Given the description of an element on the screen output the (x, y) to click on. 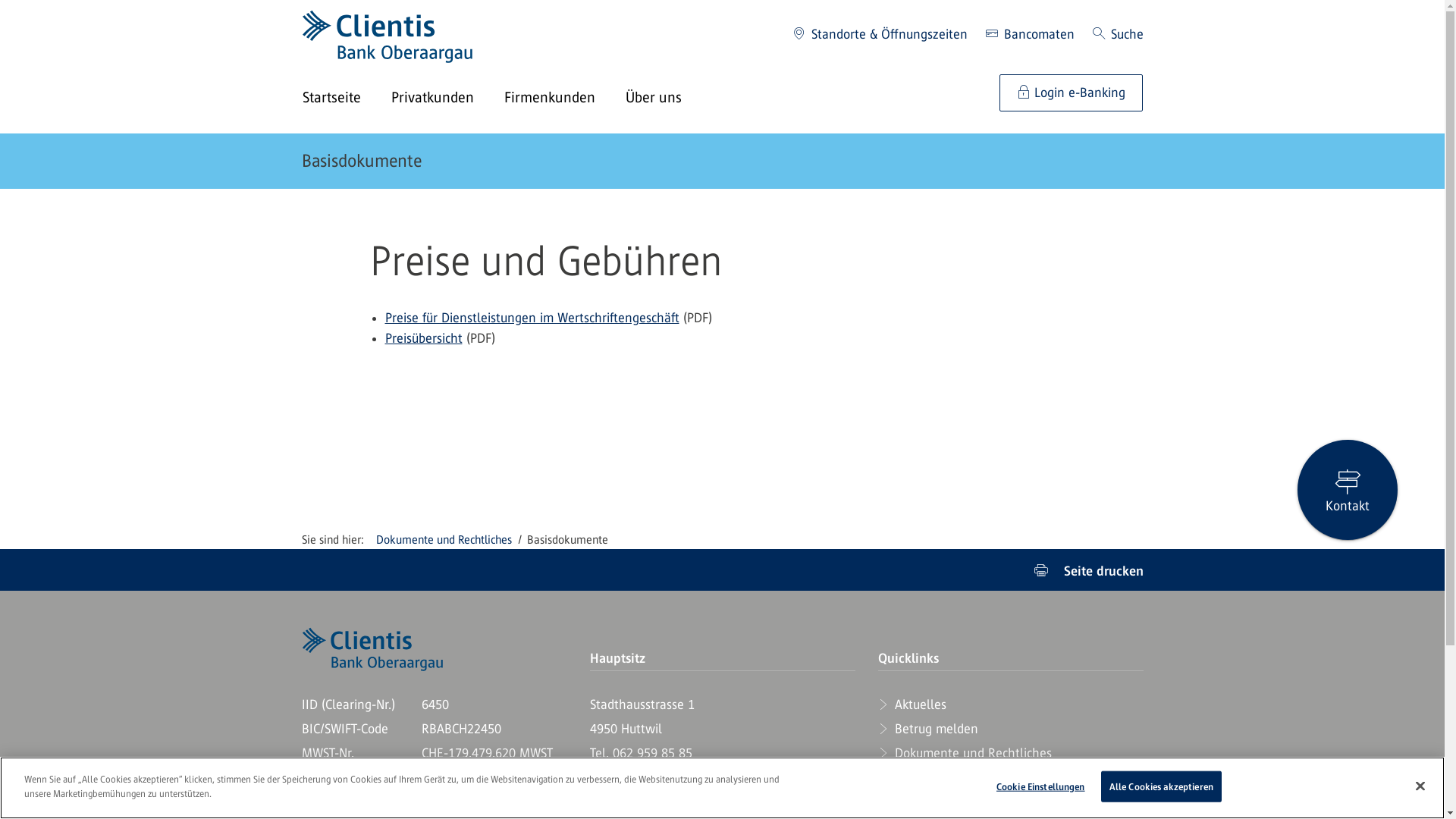
Login e-Banking Element type: text (1070, 92)
Kontakt Element type: text (1347, 489)
Startseite Element type: text (345, 98)
Betrug melden Element type: text (928, 728)
Anmeldung Newsletter Element type: text (951, 801)
Alle Cookies akzeptieren Element type: text (1161, 787)
Seite drucken Element type: text (1088, 569)
Dokumente und Rechtliches Element type: text (964, 752)
Suche Element type: text (1117, 34)
Aktuelles Element type: text (912, 704)
Basisdokumente Element type: text (361, 160)
Privatkunden Element type: text (447, 98)
Dokumente und Rechtliches Element type: text (443, 539)
Bancomaten Element type: text (1029, 34)
Firmenkunden Element type: text (563, 98)
Cookie Einstellungen Element type: text (1040, 786)
